Given the description of an element on the screen output the (x, y) to click on. 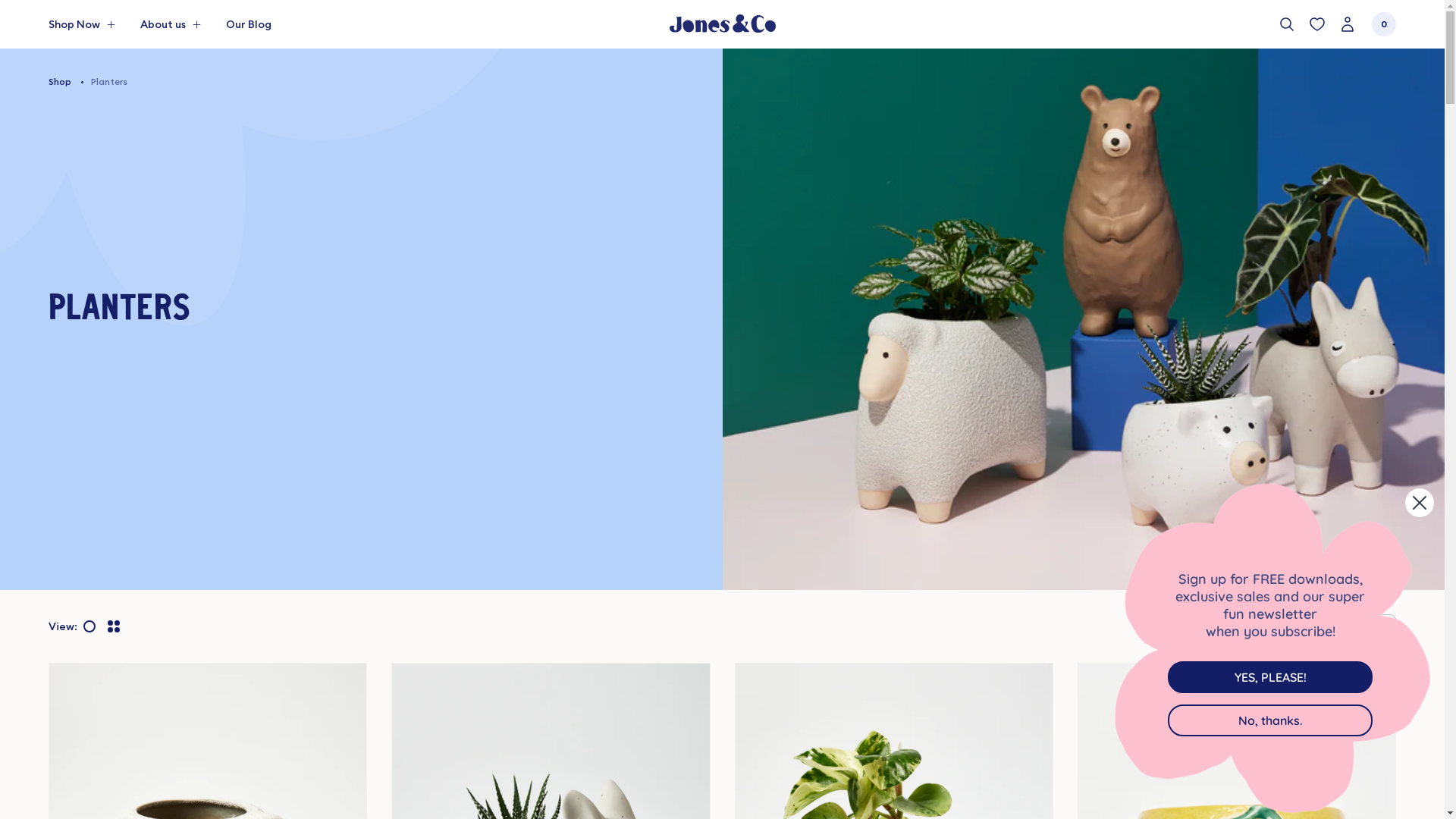
View my wishlist Element type: text (1317, 24)
Submit Element type: text (26, 9)
0
items Element type: text (1383, 24)
No, thanks. Element type: text (1269, 720)
YES, PLEASE! Element type: text (1269, 677)
About us Element type: text (170, 24)
Login Element type: text (1347, 24)
Our Blog Element type: text (248, 24)
Shop Element type: text (59, 80)
Jones & Co
Jones & Co Element type: text (721, 24)
Shop Now Element type: text (82, 24)
